Given the description of an element on the screen output the (x, y) to click on. 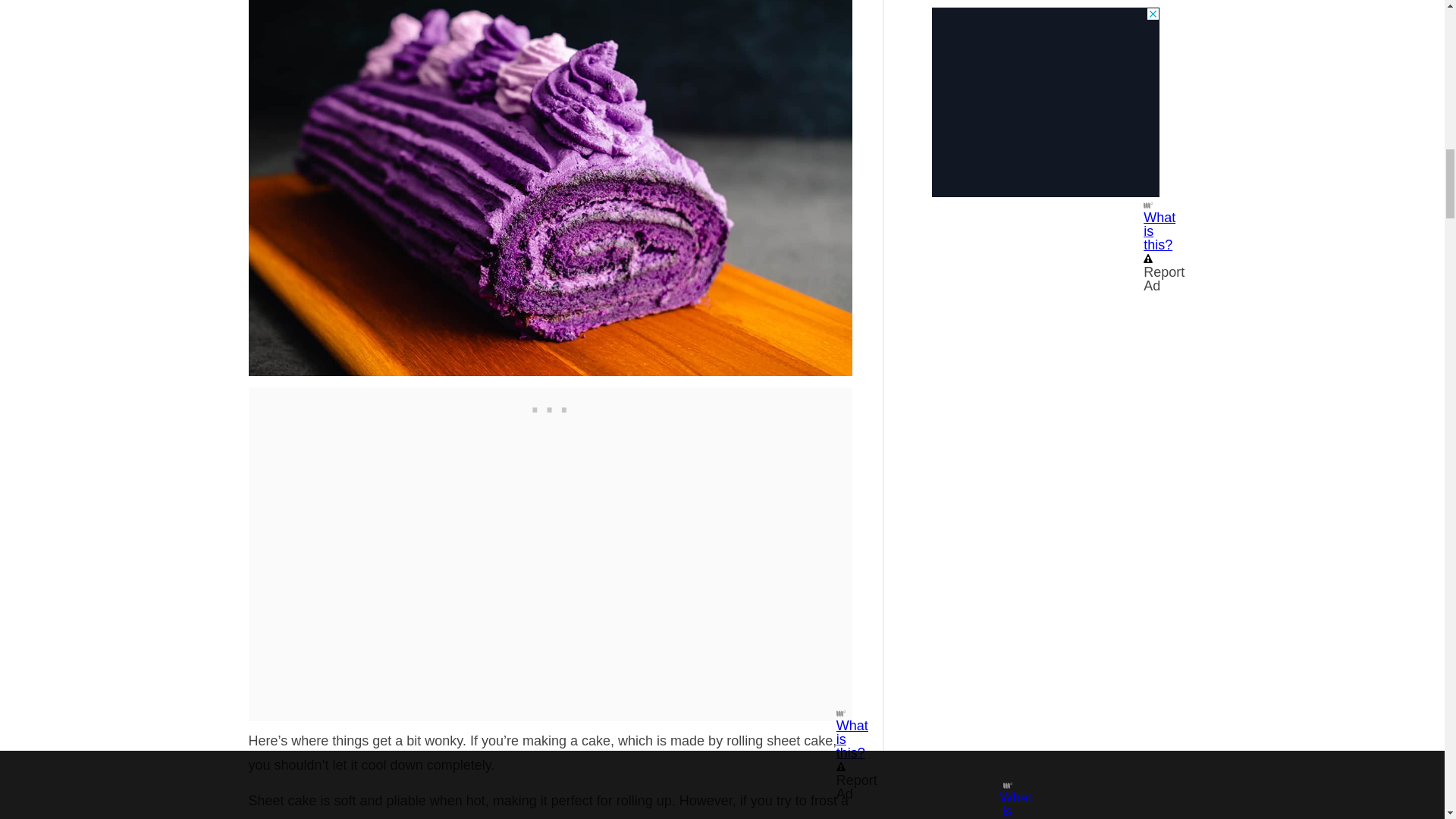
3rd party ad content (550, 406)
